Given the description of an element on the screen output the (x, y) to click on. 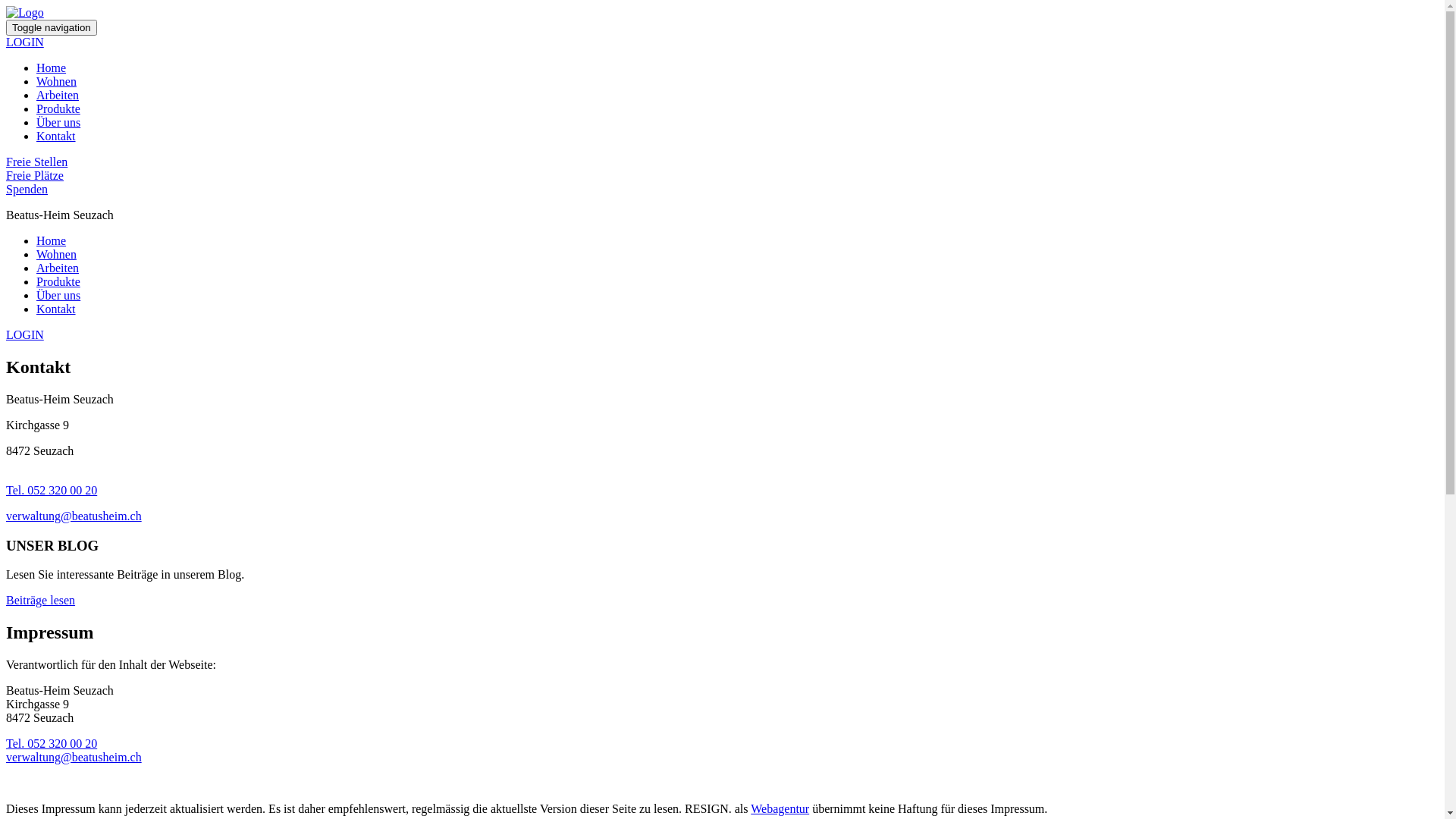
Home Element type: text (50, 240)
verwaltung@beatusheim.ch Element type: text (73, 515)
Tel. 052 320 00 20 Element type: text (51, 743)
Arbeiten Element type: text (57, 94)
Freie Stellen Element type: text (722, 162)
Wohnen Element type: text (56, 253)
Produkte Element type: text (58, 108)
Kontakt Element type: text (55, 308)
Tel. 052 320 00 20 Element type: text (51, 489)
verwaltung@beatusheim.ch Element type: text (73, 756)
LOGIN Element type: text (24, 334)
LOGIN Element type: text (24, 41)
Produkte Element type: text (58, 281)
Kontakt Element type: text (55, 135)
Wohnen Element type: text (56, 81)
Arbeiten Element type: text (57, 267)
Spenden Element type: text (722, 189)
Webagentur Element type: text (779, 808)
Toggle navigation Element type: text (51, 27)
Home Element type: text (50, 67)
